Given the description of an element on the screen output the (x, y) to click on. 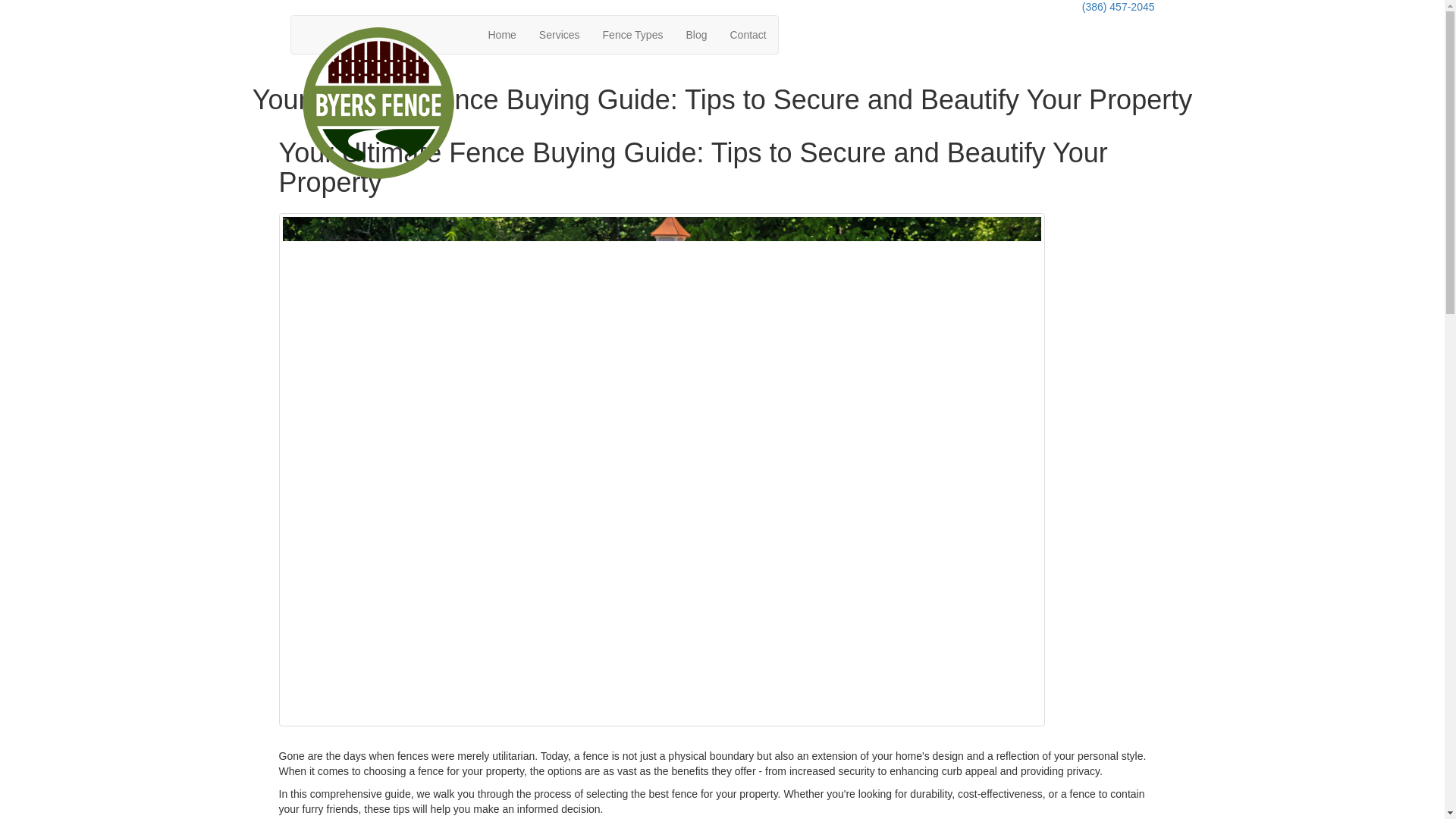
Blog (695, 34)
Services (559, 34)
Home (501, 34)
Contact (747, 34)
Home (501, 34)
Contact (747, 34)
Blog (695, 34)
Fence Types (633, 34)
Services (559, 34)
Fence Types (633, 34)
